Given the description of an element on the screen output the (x, y) to click on. 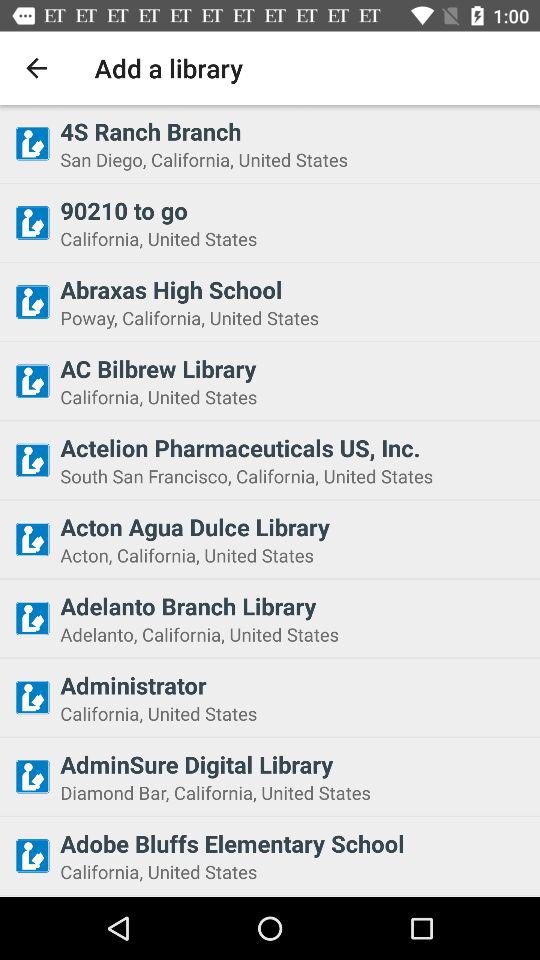
scroll until the ac bilbrew library item (294, 368)
